Given the description of an element on the screen output the (x, y) to click on. 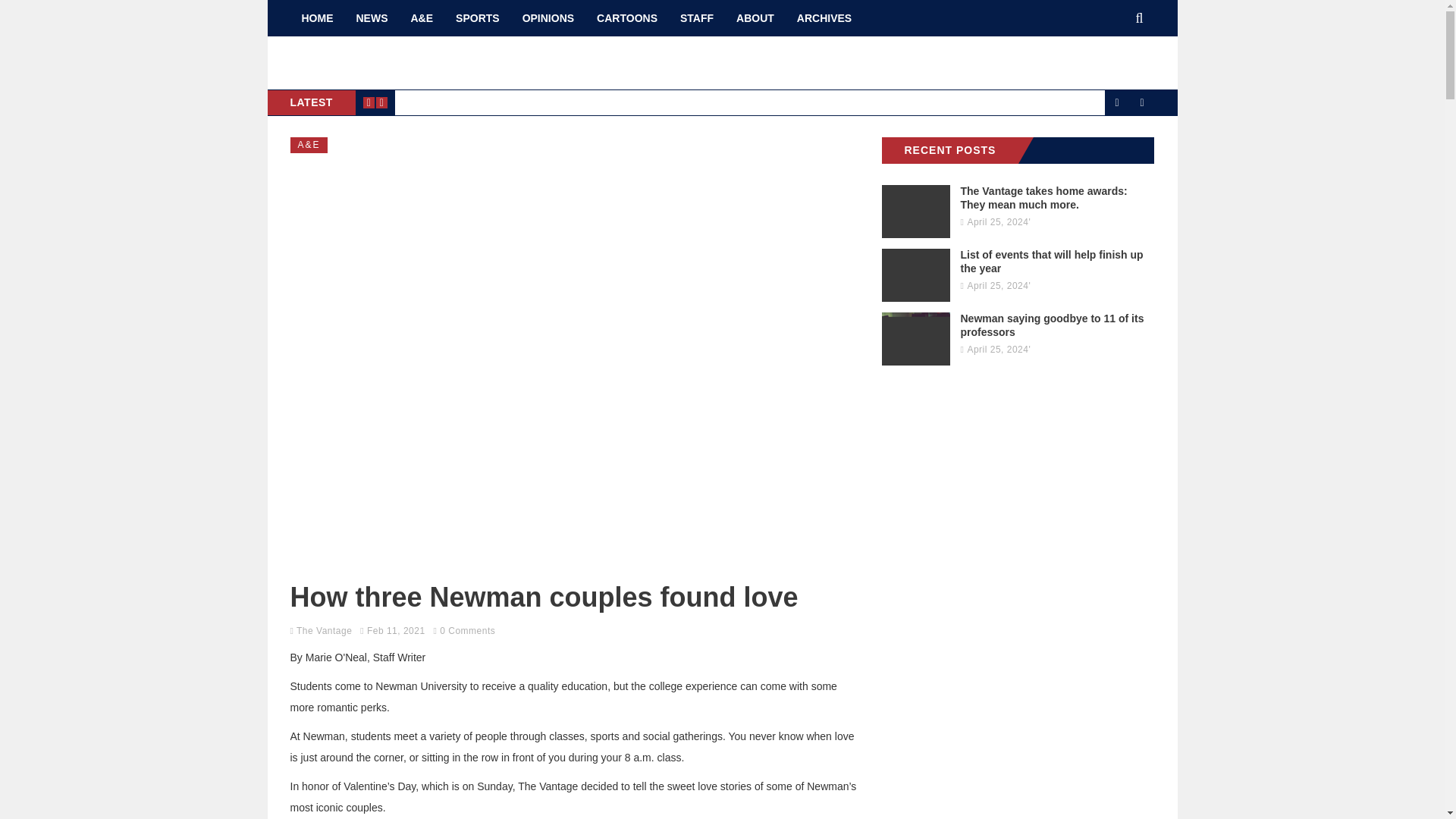
CARTOONS (626, 18)
ARCHIVES (824, 18)
The Vantage (324, 629)
0 Comments (467, 629)
NEWS (370, 18)
STAFF (696, 18)
OPINIONS (548, 18)
ABOUT (755, 18)
